Given the description of an element on the screen output the (x, y) to click on. 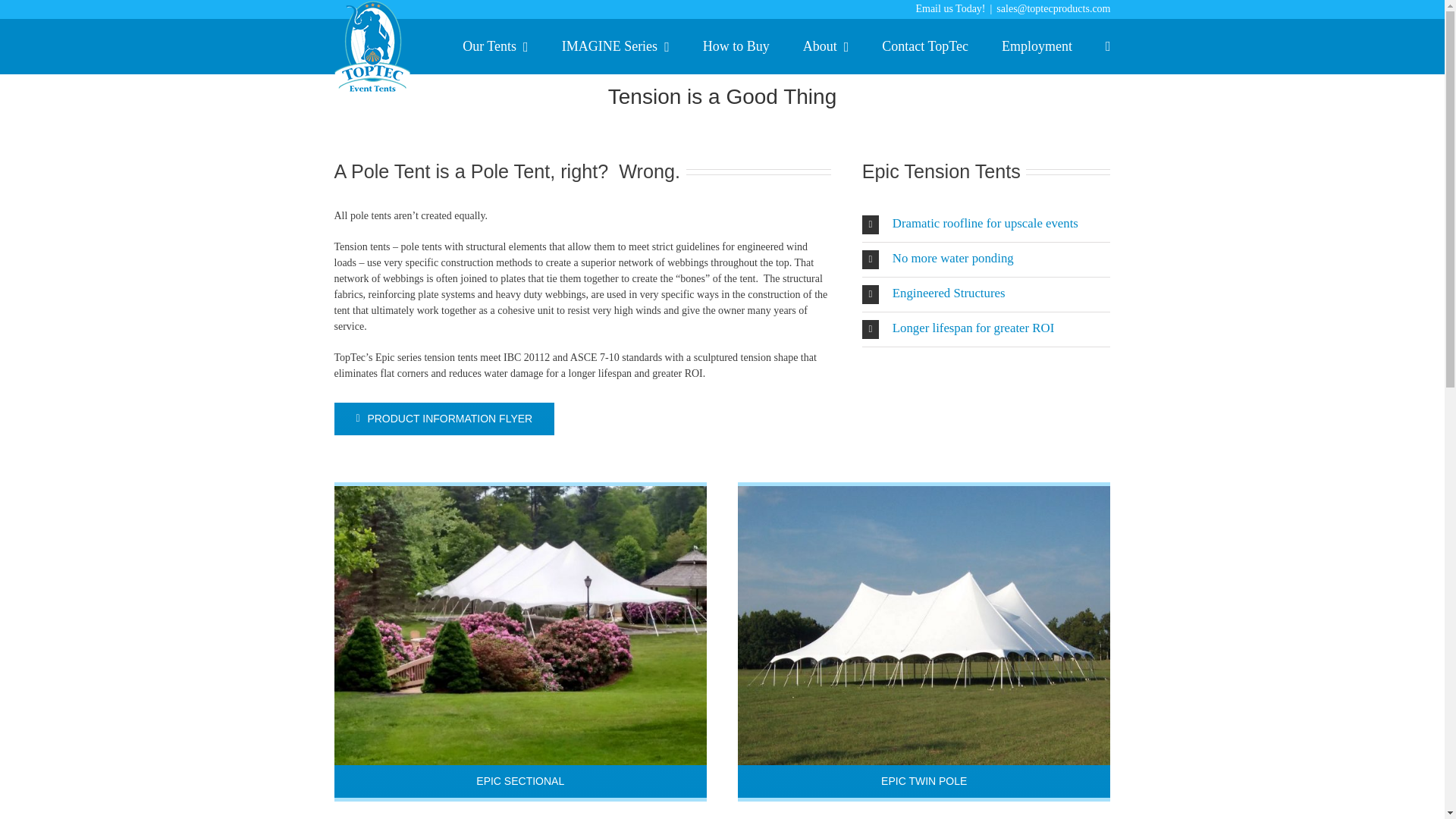
Employment (1036, 45)
Contact TopTec (925, 45)
How to Buy (736, 45)
Our Tents (495, 45)
IMAGINE Series (615, 45)
